Given the description of an element on the screen output the (x, y) to click on. 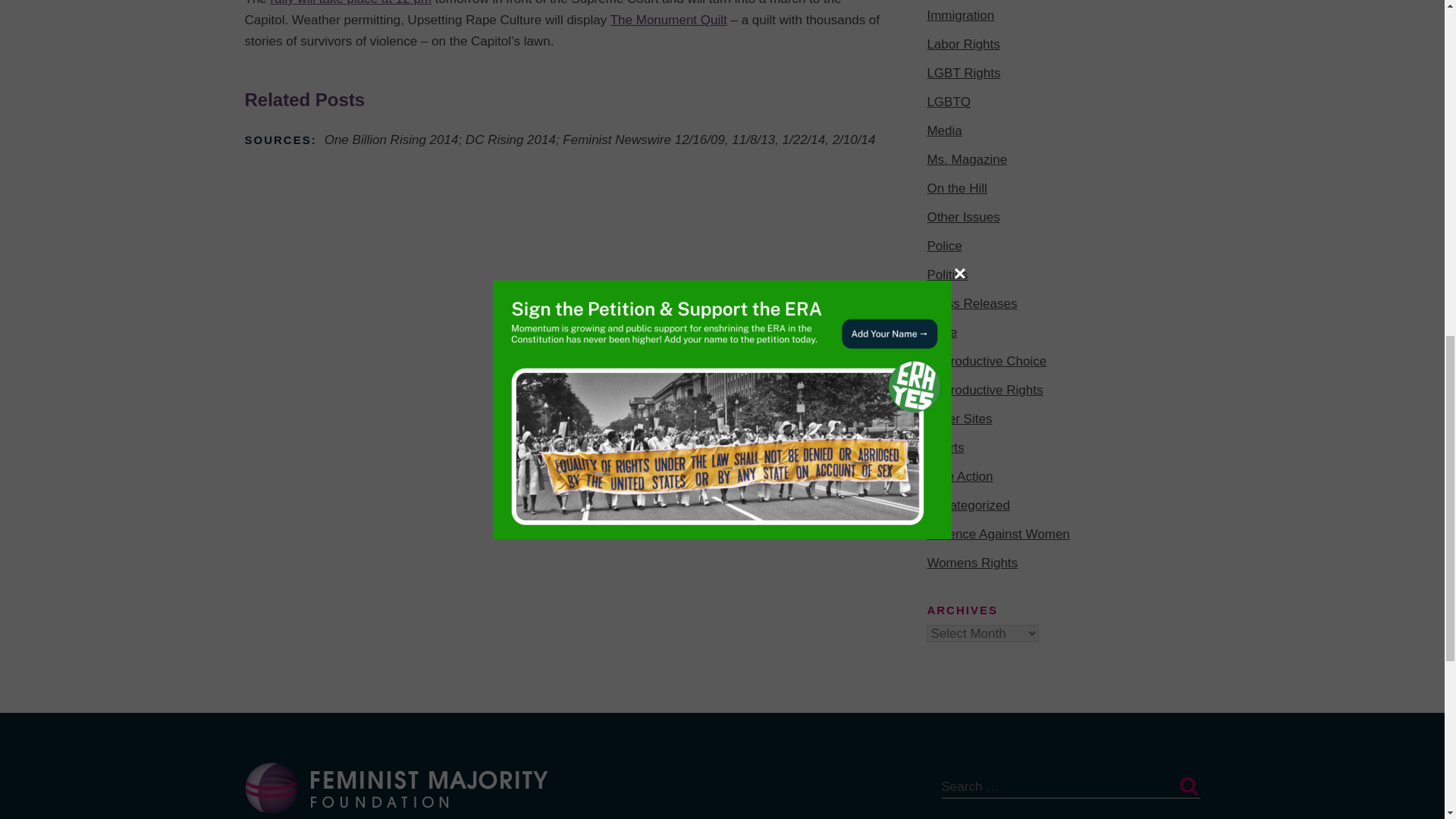
Search (1187, 785)
The Monument Quilt (668, 20)
Search (1187, 785)
rally will take place at 12 pm (351, 2)
